Given the description of an element on the screen output the (x, y) to click on. 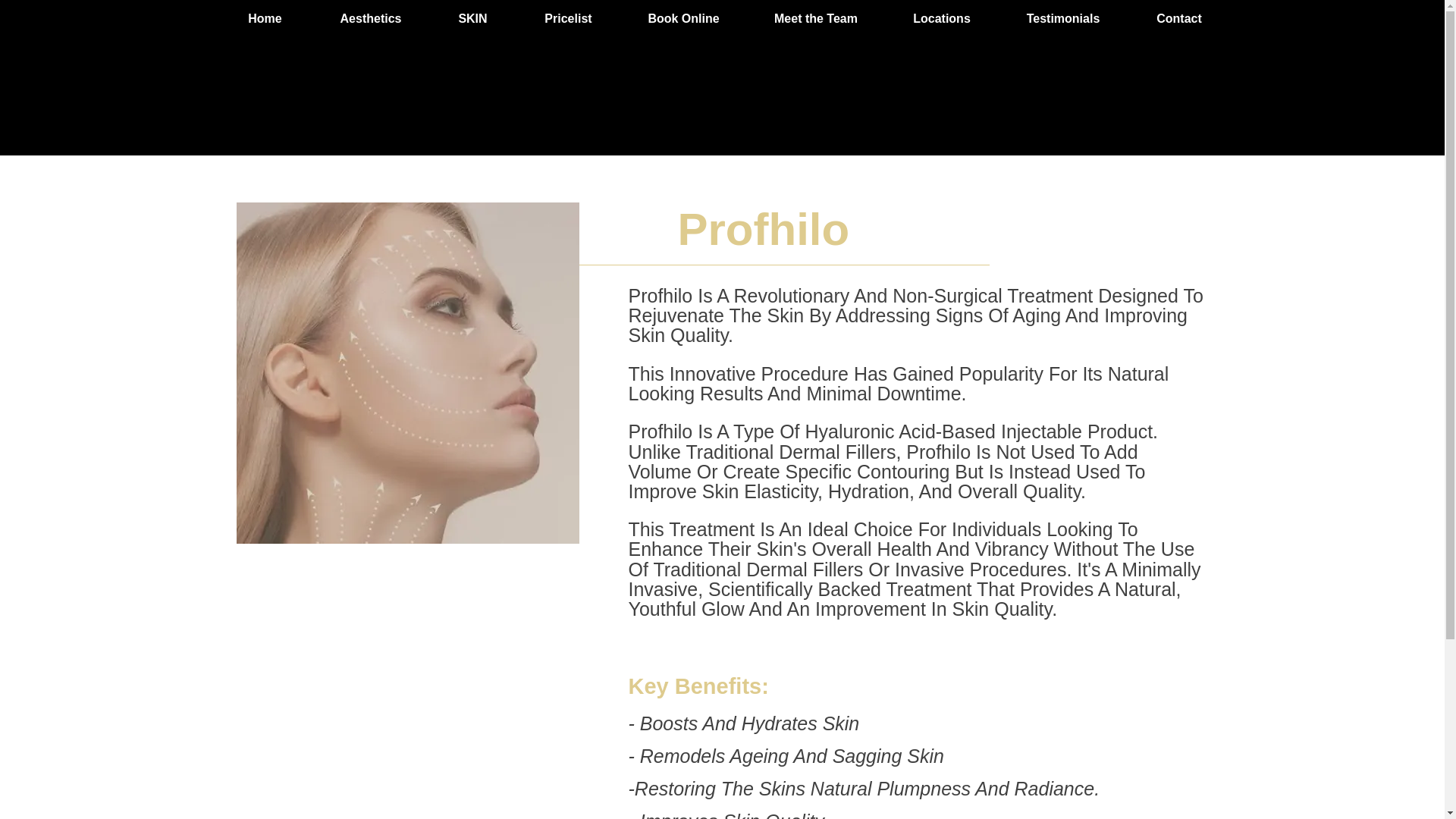
Locations (940, 18)
Pricelist (567, 18)
Meet the Team (814, 18)
Home (265, 18)
Book Online (683, 18)
SKIN (472, 18)
Contact (1178, 18)
Testimonials (1061, 18)
Aesthetics (371, 18)
